Given the description of an element on the screen output the (x, y) to click on. 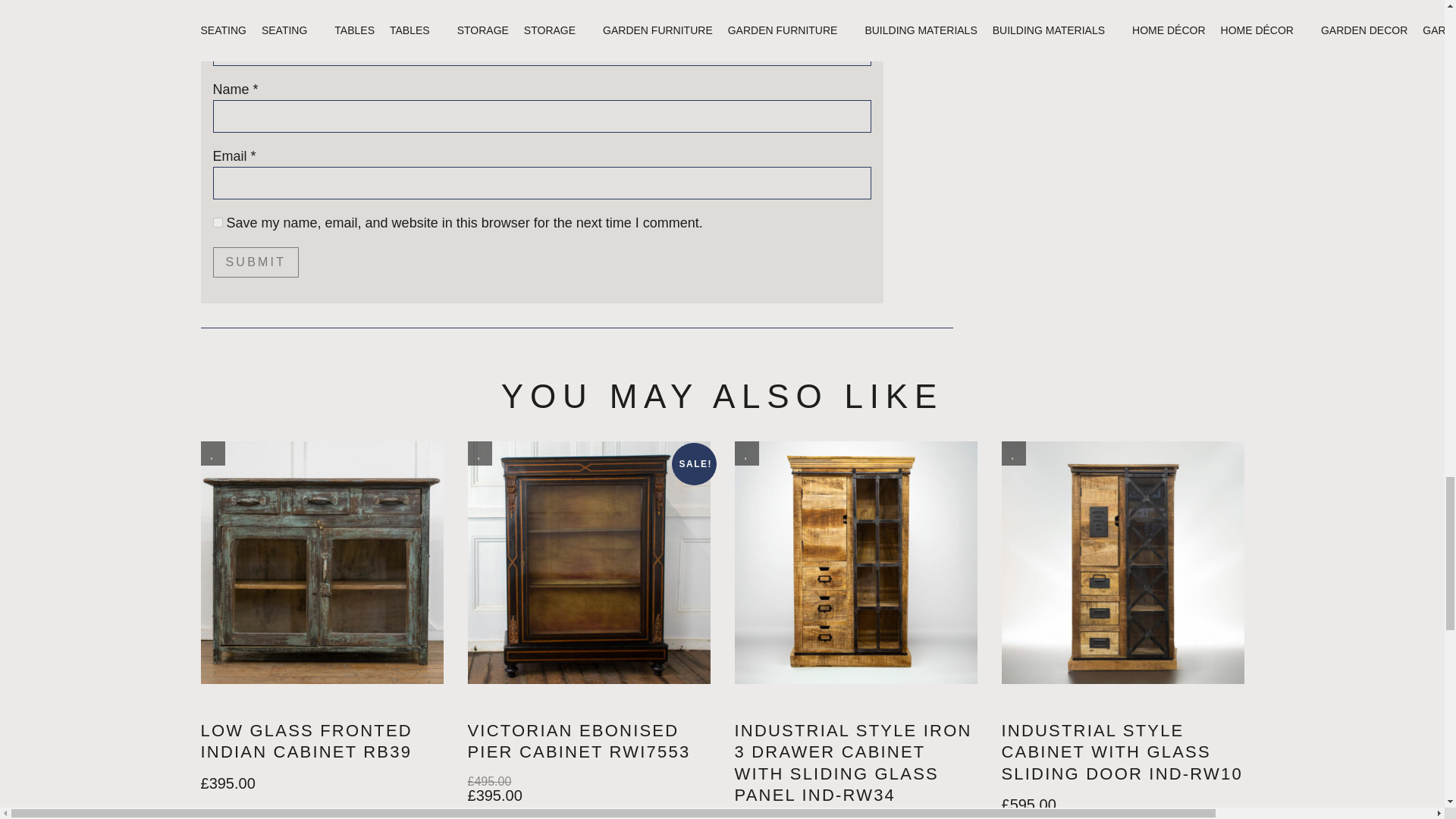
Submit (255, 262)
yes (217, 222)
